Given the description of an element on the screen output the (x, y) to click on. 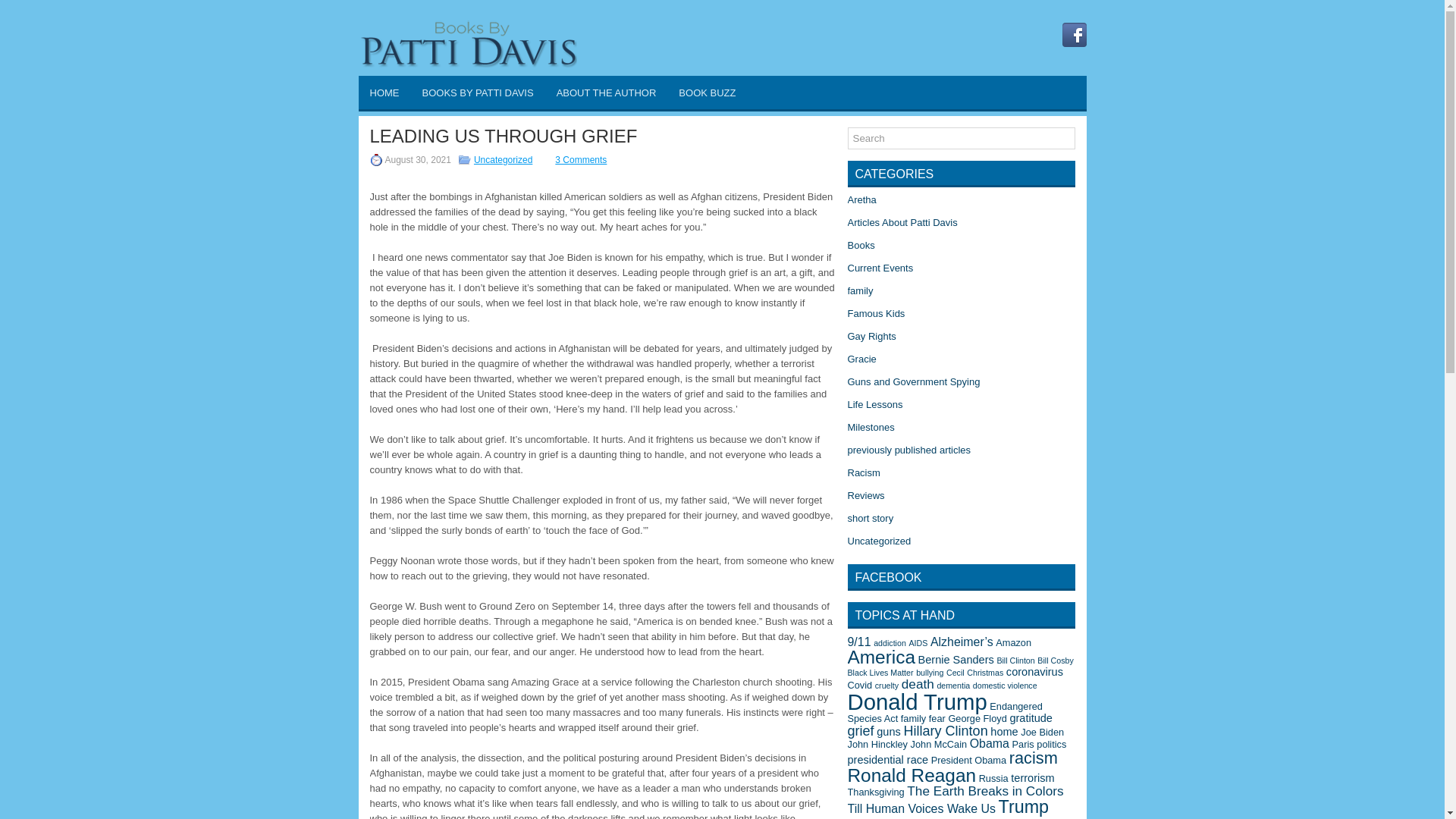
Amazon (1012, 642)
Guns and Government Spying (913, 381)
previously published articles (909, 449)
Gay Rights (871, 336)
HOME (384, 92)
Uncategorized (879, 541)
family (860, 290)
Aretha (861, 199)
3 Comments (580, 159)
Famous Kids (876, 313)
